Given the description of an element on the screen output the (x, y) to click on. 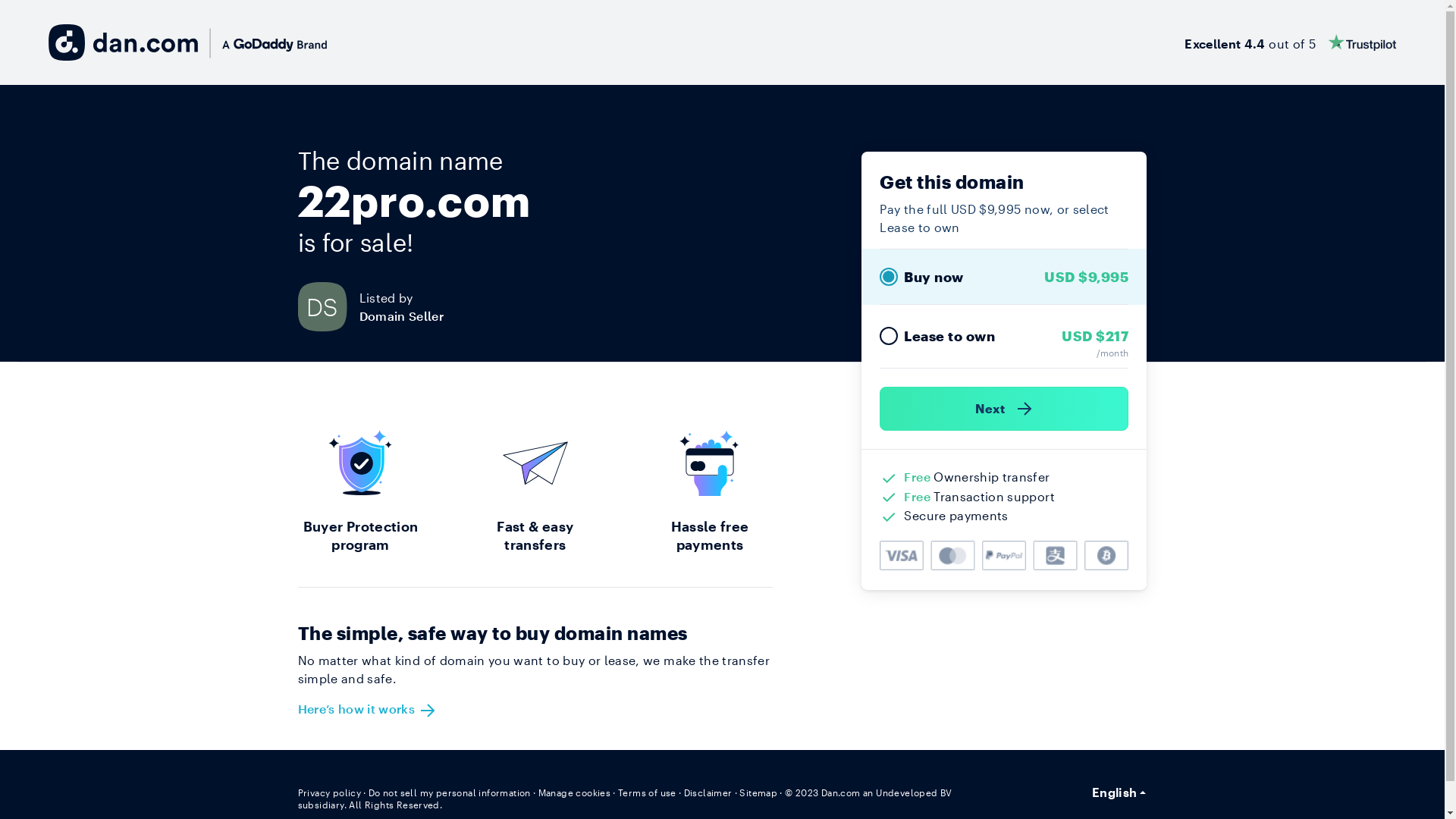
Sitemap Element type: text (758, 792)
Manage cookies Element type: text (574, 792)
Do not sell my personal information Element type: text (449, 792)
English Element type: text (1119, 792)
Terms of use Element type: text (647, 792)
Disclaimer Element type: text (708, 792)
Next
) Element type: text (1003, 408)
Privacy policy Element type: text (328, 792)
Excellent 4.4 out of 5 Element type: text (1290, 42)
